Given the description of an element on the screen output the (x, y) to click on. 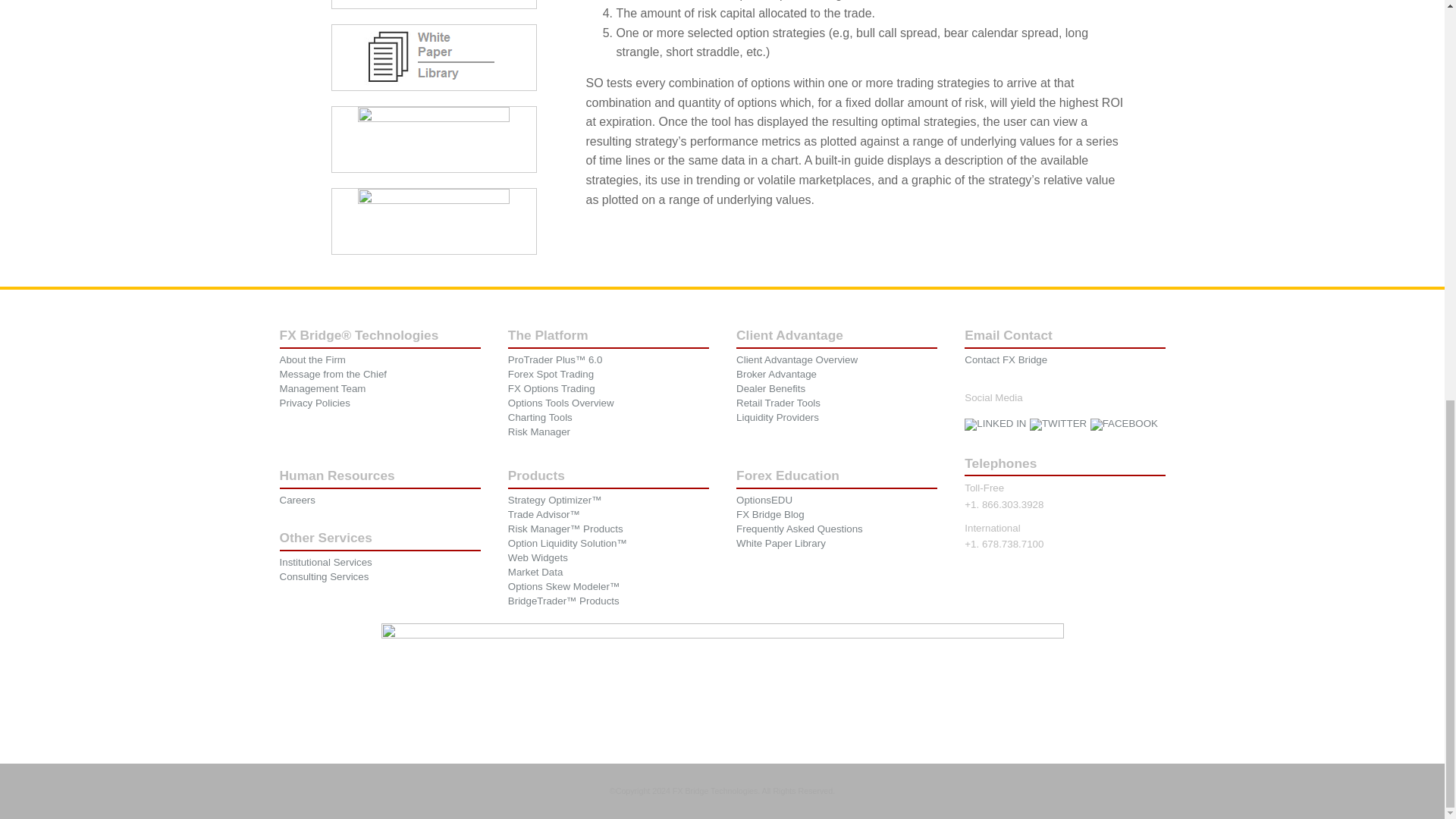
Message from the Chief (333, 374)
Privacy Policies (314, 402)
About the Firm (312, 359)
Management Team (322, 388)
Careers (297, 500)
